Given the description of an element on the screen output the (x, y) to click on. 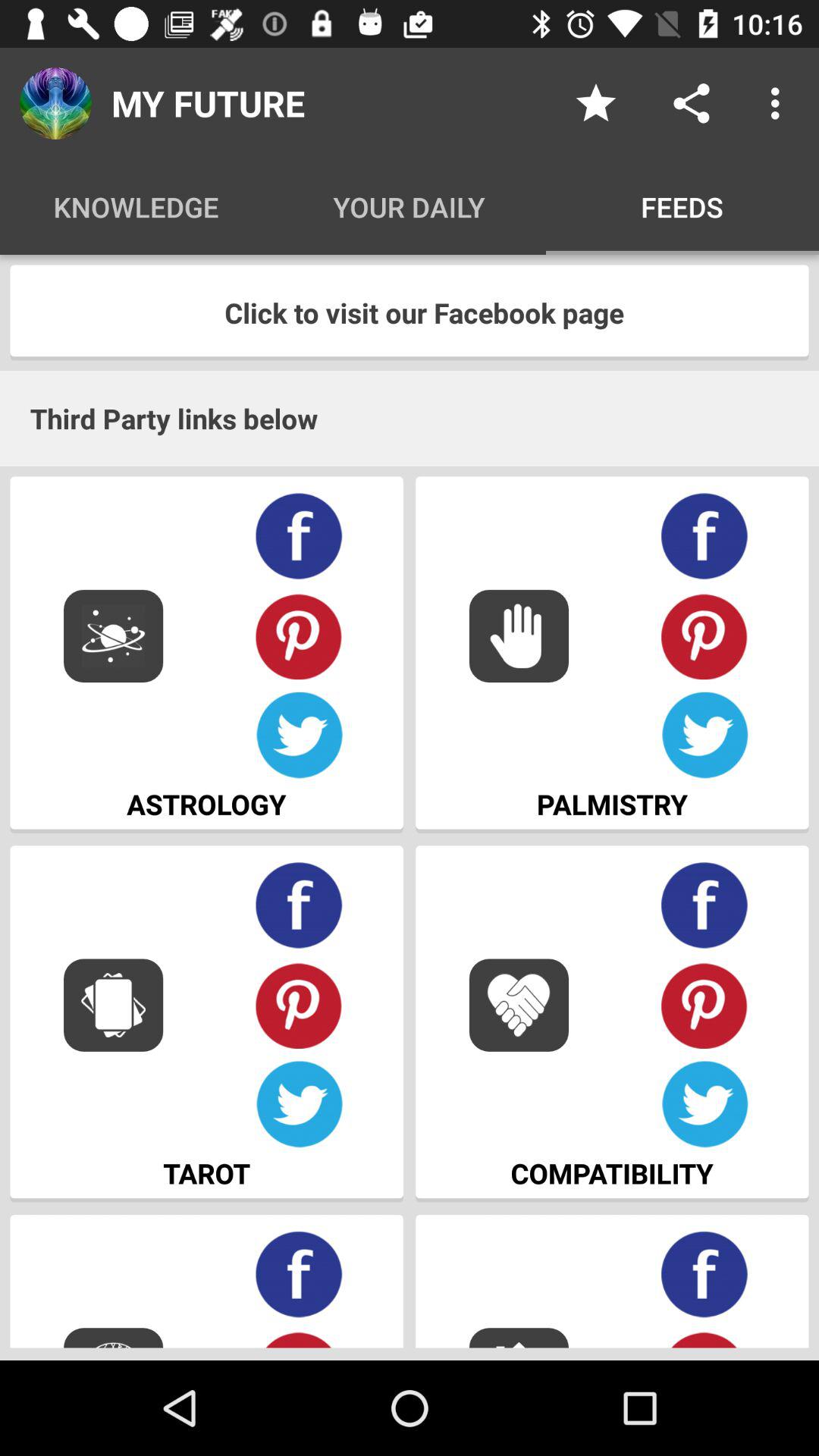
pin to pinterest (704, 635)
